Given the description of an element on the screen output the (x, y) to click on. 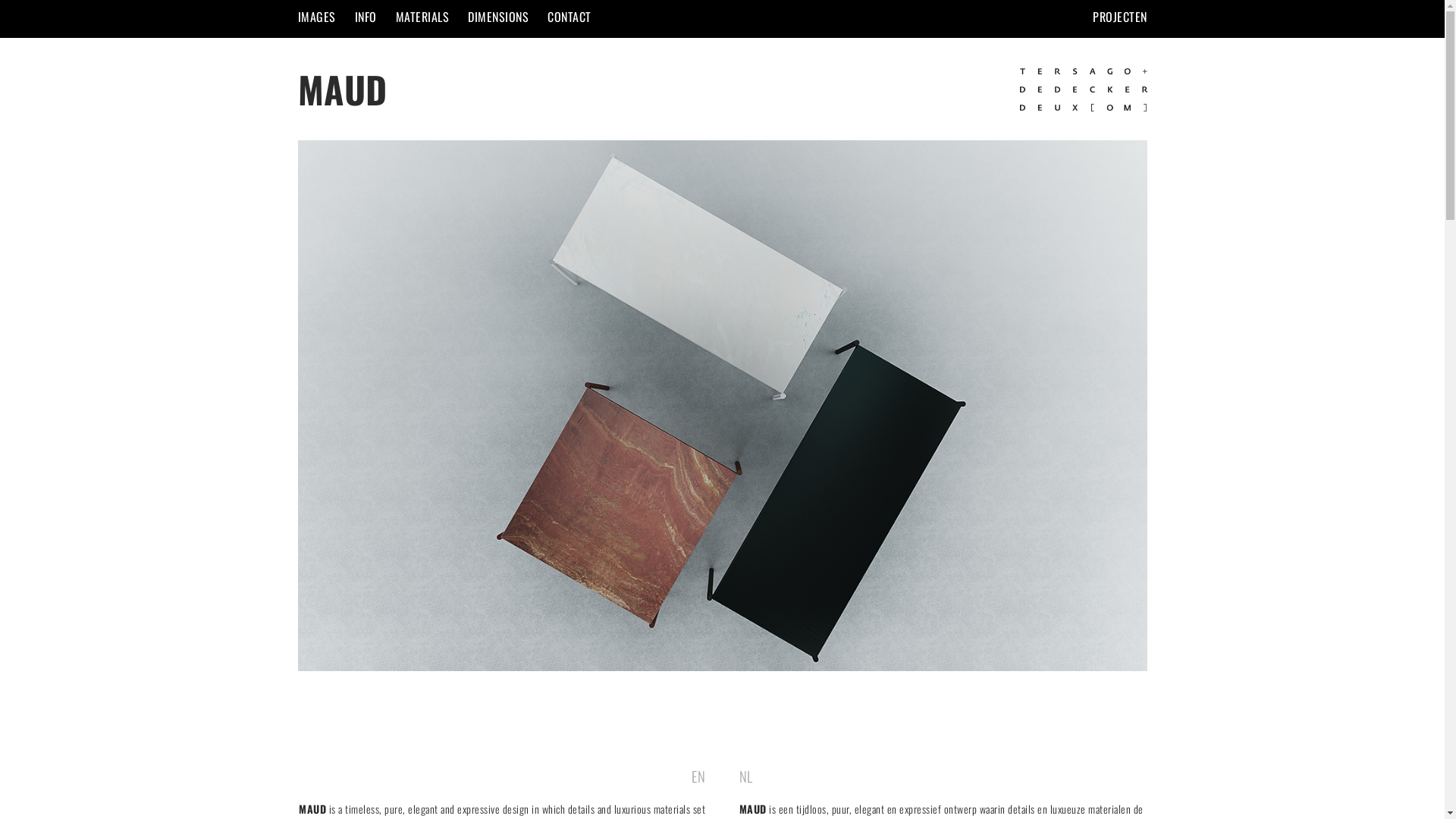
DIMENSIONS Element type: text (497, 16)
CONTACT Element type: text (569, 16)
IMAGES Element type: text (316, 16)
MATERIALS Element type: text (422, 16)
PROJECTEN Element type: text (1119, 16)
INFO Element type: text (365, 16)
